Given the description of an element on the screen output the (x, y) to click on. 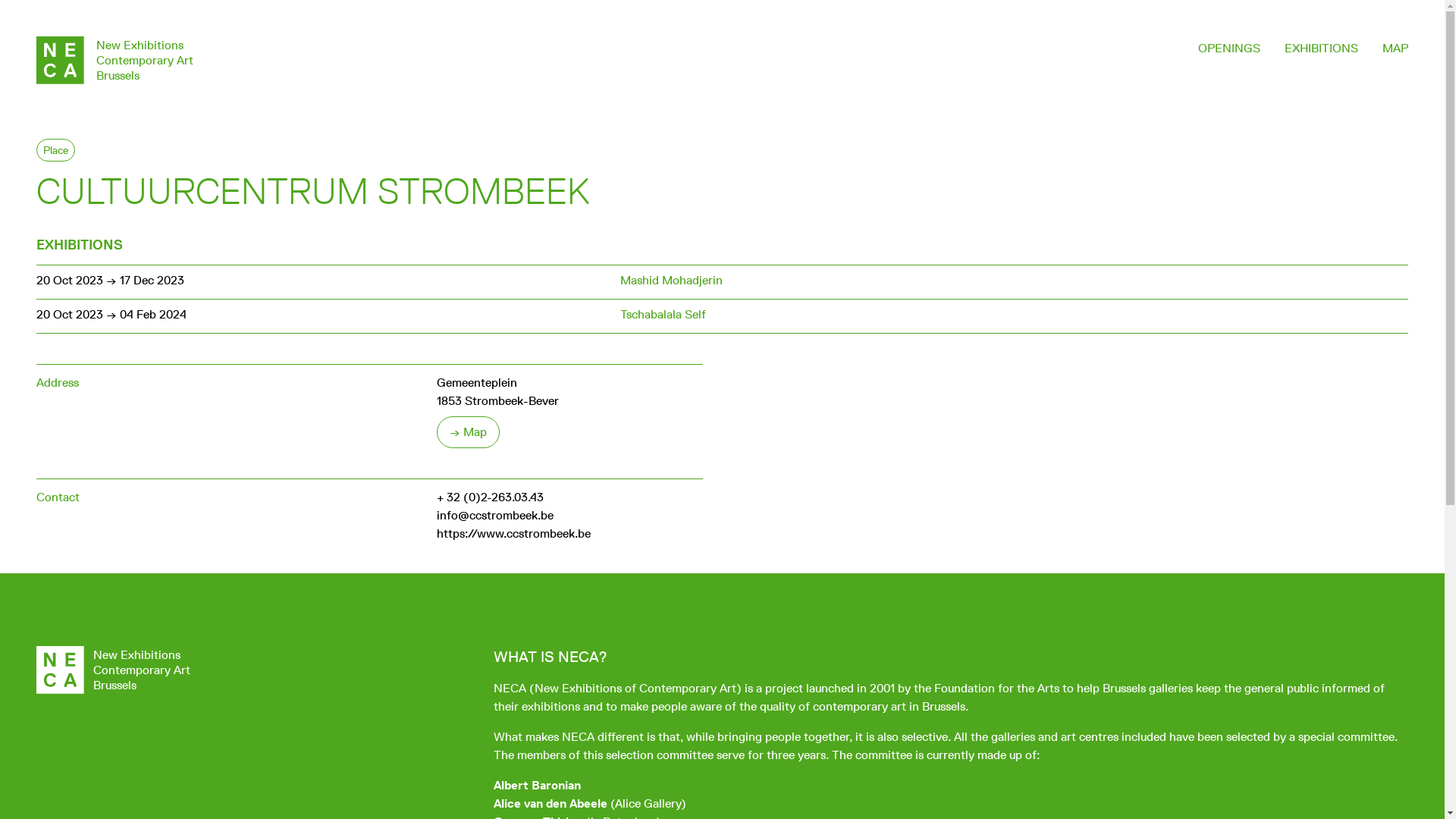
+ 32 (0)2-263.03.43 Element type: text (489, 496)
New Exhibitions
Contemporary Art
Brussels Element type: text (114, 60)
EXHIBITIONS Element type: text (1321, 47)
Mashid Mohadjerin Element type: text (671, 280)
MAP Element type: text (1395, 47)
OPENINGS Element type: text (1229, 47)
info@ccstrombeek.be Element type: text (494, 515)
https://www.ccstrombeek.be Element type: text (513, 533)
Tschabalala Self Element type: text (663, 314)
